Given the description of an element on the screen output the (x, y) to click on. 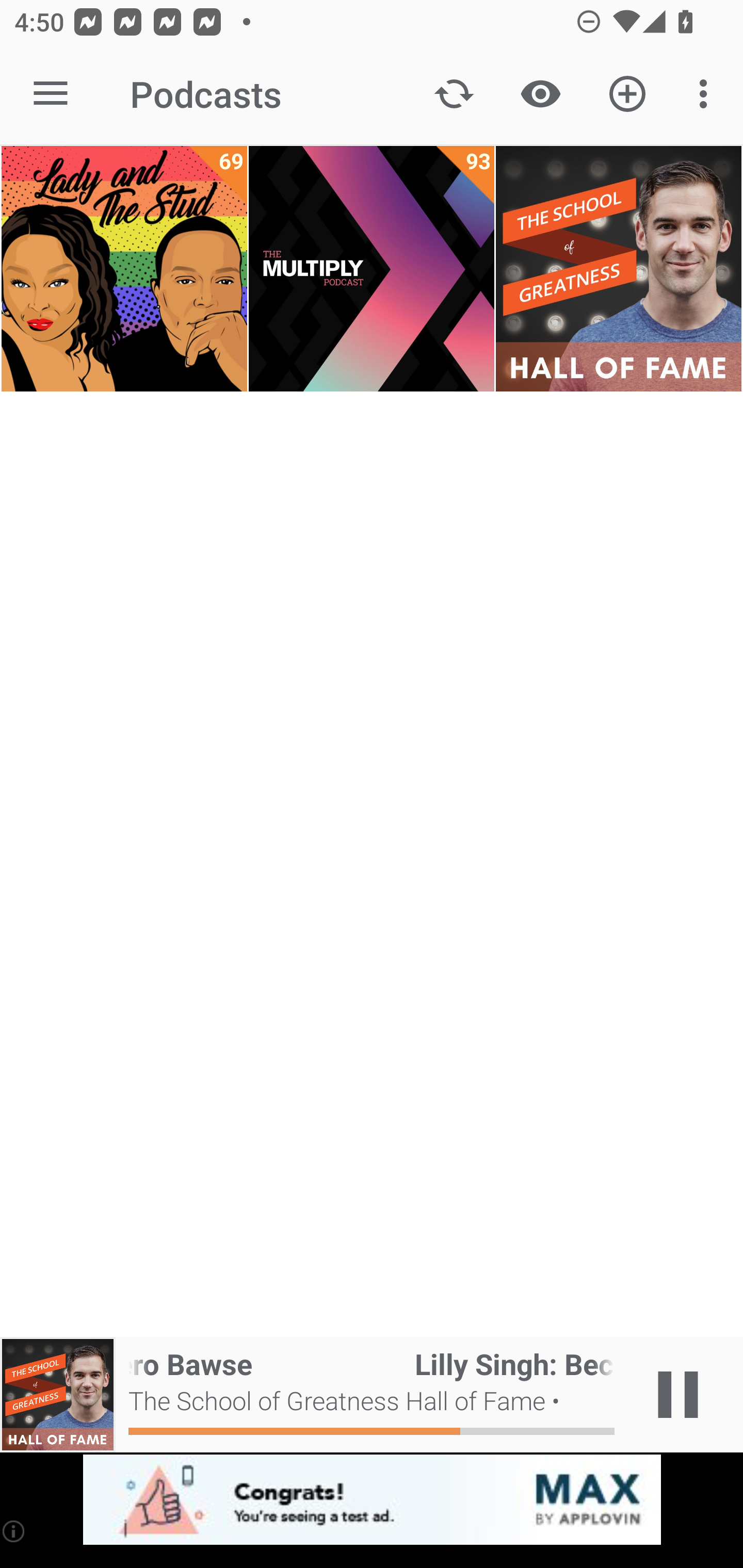
Open navigation sidebar (50, 93)
Update (453, 93)
Show / Hide played content (540, 93)
Add new Podcast (626, 93)
More options (706, 93)
Lady and The Stud 69 (124, 268)
The Multiply Podcast 93 (371, 268)
The School of Greatness Hall of Fame (618, 268)
Play / Pause (677, 1394)
app-monetization (371, 1500)
(i) (14, 1531)
